Given the description of an element on the screen output the (x, y) to click on. 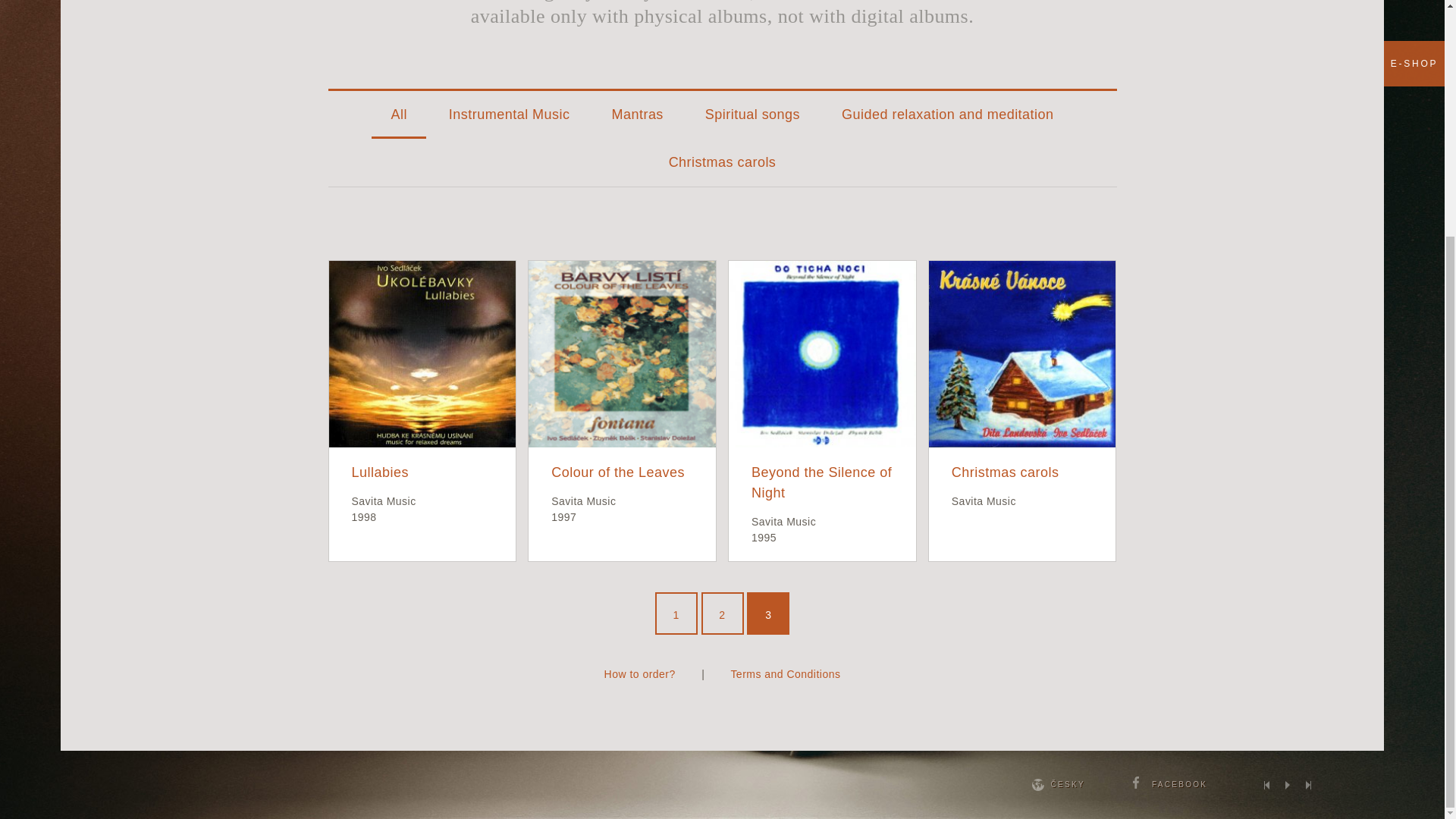
FACEBOOK (1169, 784)
How to order? (639, 674)
Christmas carols (721, 162)
All (398, 114)
Guided relaxation and meditation (947, 114)
2 (721, 613)
Instrumental Music (509, 114)
Spiritual songs (751, 114)
1 (676, 613)
Mantras (636, 114)
Terms and Conditions (785, 674)
